Given the description of an element on the screen output the (x, y) to click on. 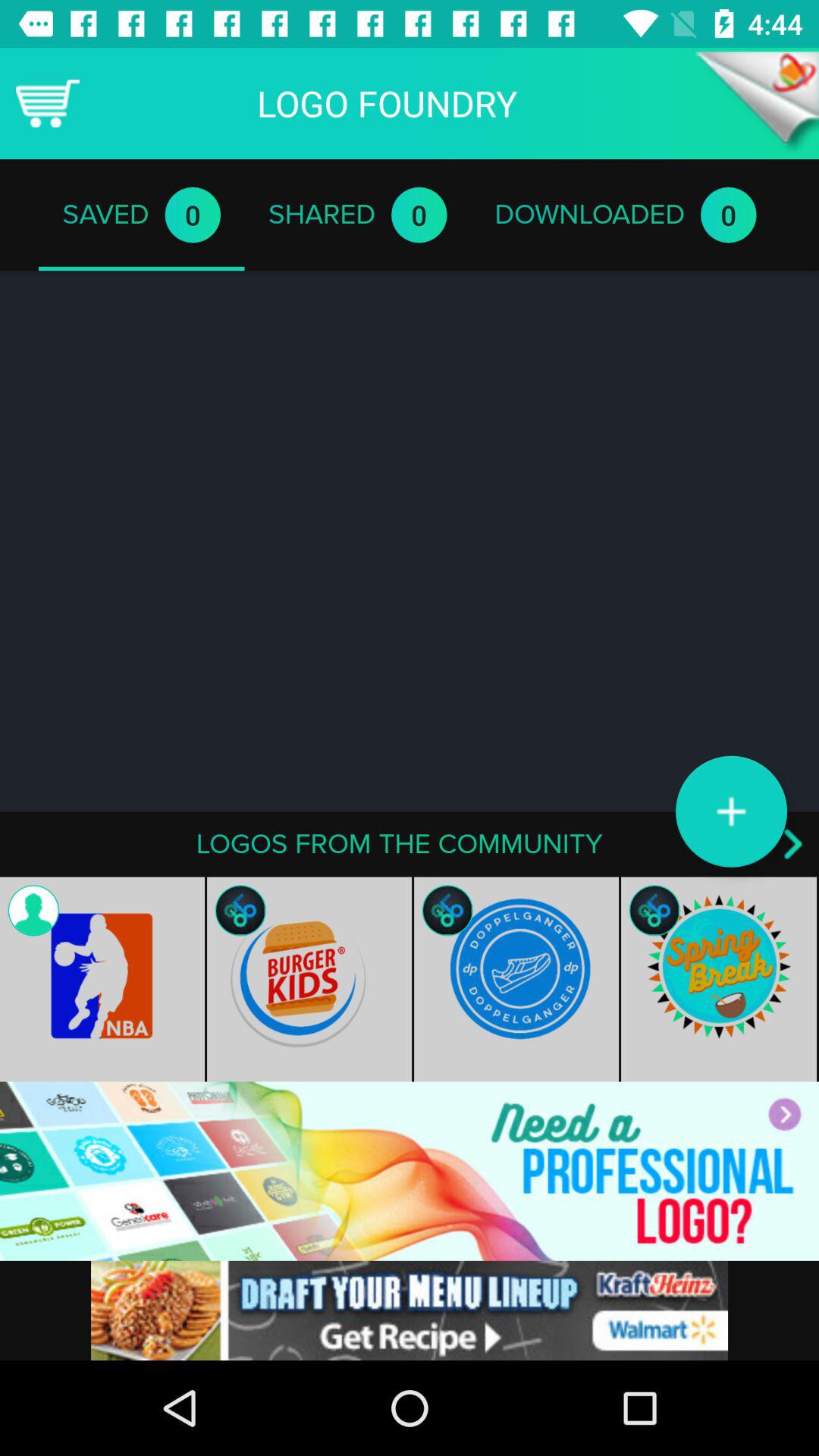
space where you access advertising (409, 1310)
